Given the description of an element on the screen output the (x, y) to click on. 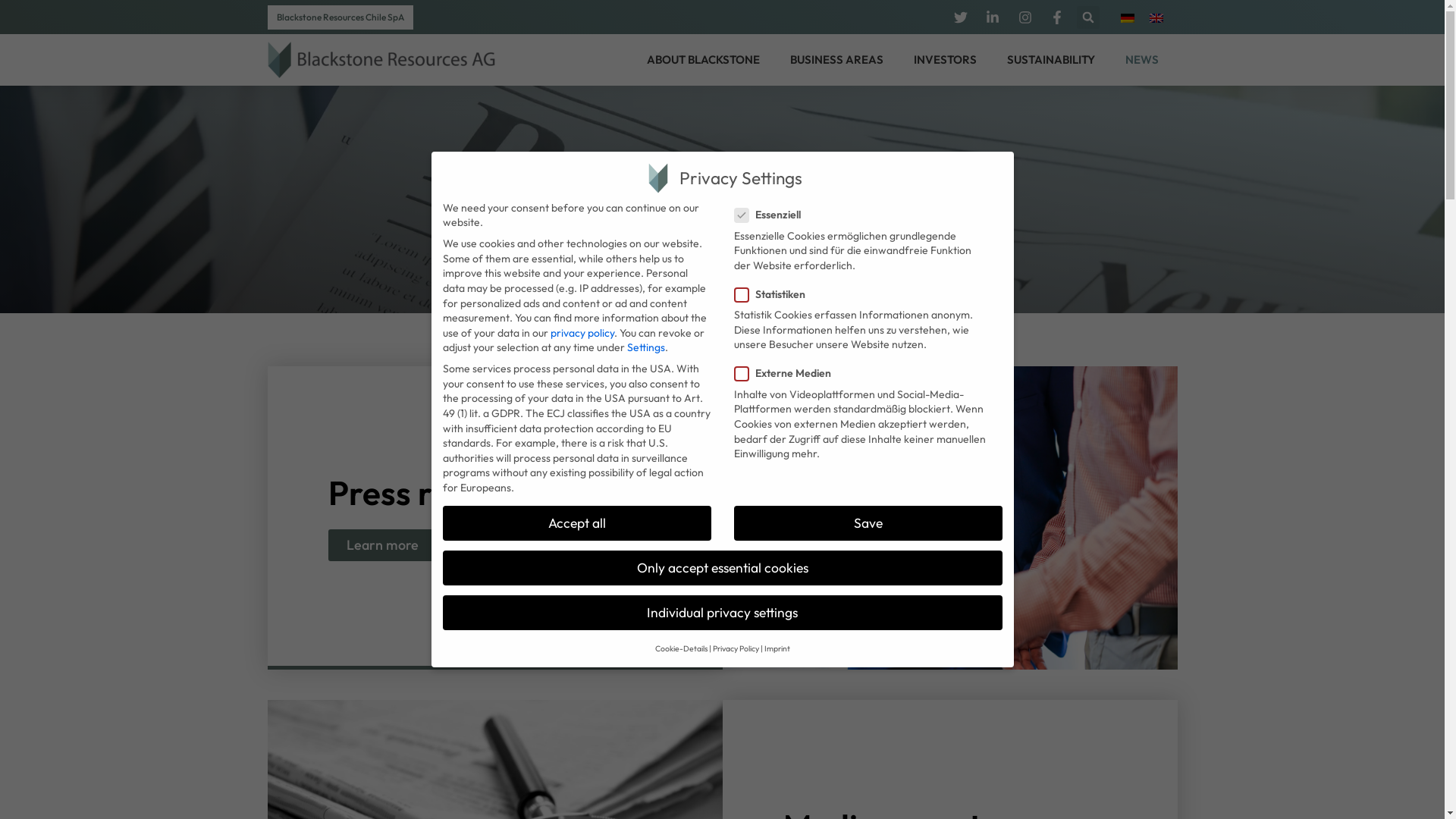
NEWS Element type: text (1144, 59)
Accept all Element type: text (576, 522)
Imprint Element type: text (777, 649)
Save Element type: text (868, 522)
Cookie-Details Element type: text (681, 649)
INVESTORS Element type: text (948, 59)
BUSINESS AREAS Element type: text (839, 59)
Home Element type: text (696, 228)
ABOUT BLACKSTONE Element type: text (706, 59)
privacy policy Element type: text (582, 332)
SUSTAINABILITY Element type: text (1053, 59)
Blackstone Resources Chile SpA Element type: text (339, 16)
Only accept essential cookies Element type: text (722, 567)
Individual privacy settings Element type: text (722, 612)
Settings Element type: text (645, 347)
Privacy Policy Element type: text (735, 649)
Learn more Element type: text (381, 545)
